Given the description of an element on the screen output the (x, y) to click on. 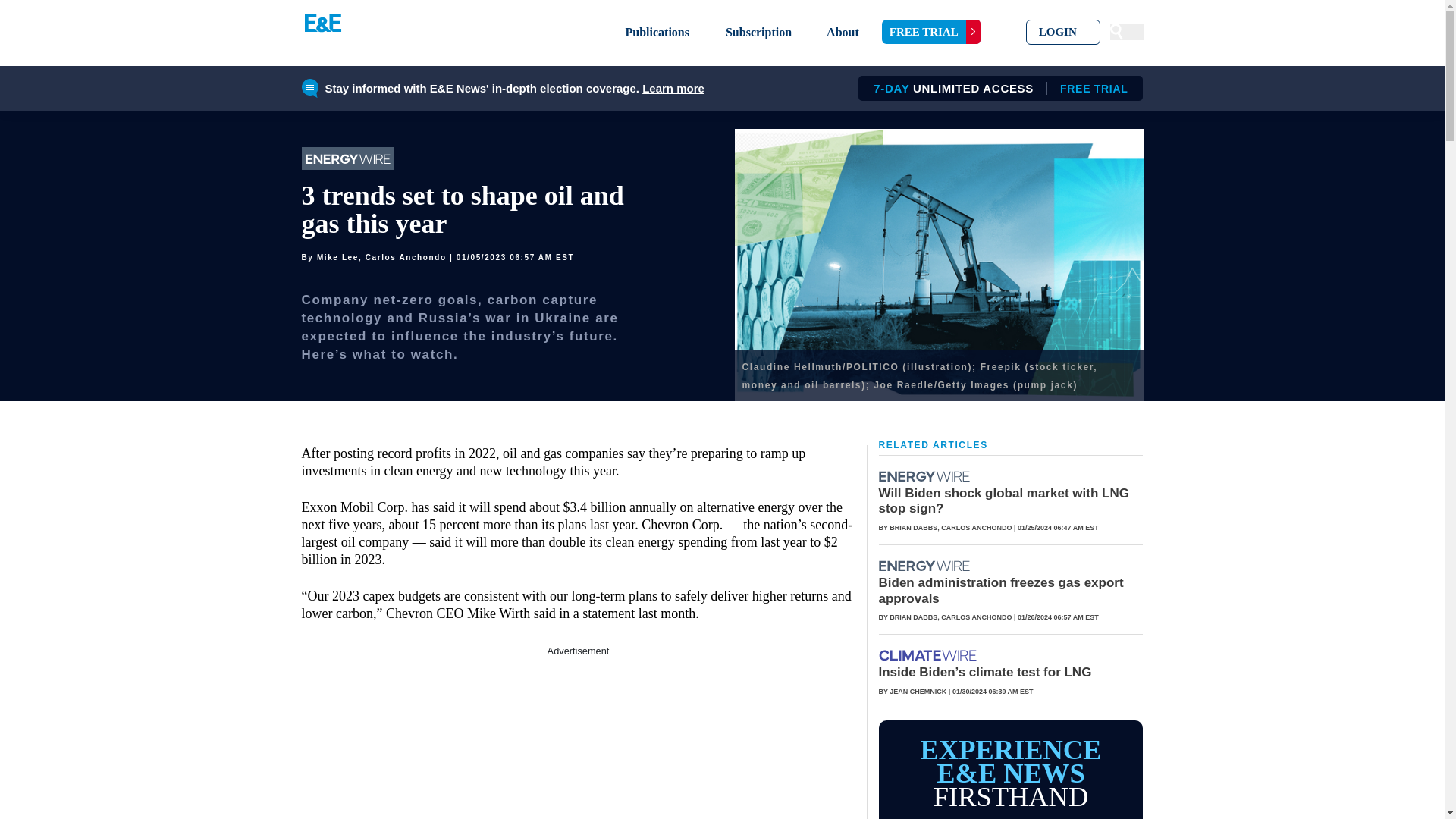
Subscription (758, 32)
Publications (656, 32)
energywire (923, 476)
Will Biden shock global market with LNG stop sign? (994, 88)
energywire (1002, 500)
LOGIN (924, 476)
FREE TRIAL (1063, 32)
climatewire (930, 31)
energywire (928, 655)
Biden administration freezes gas export approvals (924, 565)
Learn more (999, 590)
About (673, 88)
Will Biden shock global market with LNG stop sign? (843, 32)
Skip to primary navigation (1002, 500)
